Given the description of an element on the screen output the (x, y) to click on. 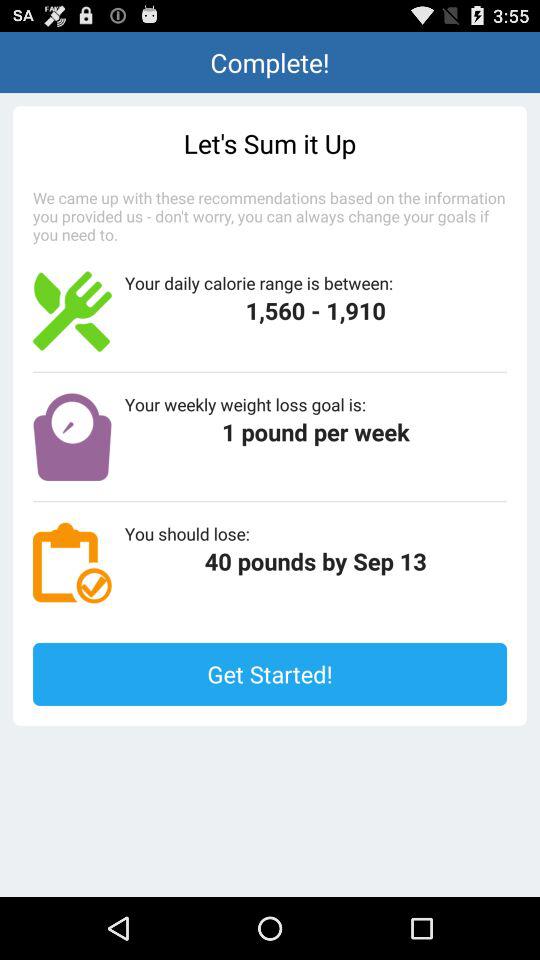
swipe until the get started! (270, 673)
